Given the description of an element on the screen output the (x, y) to click on. 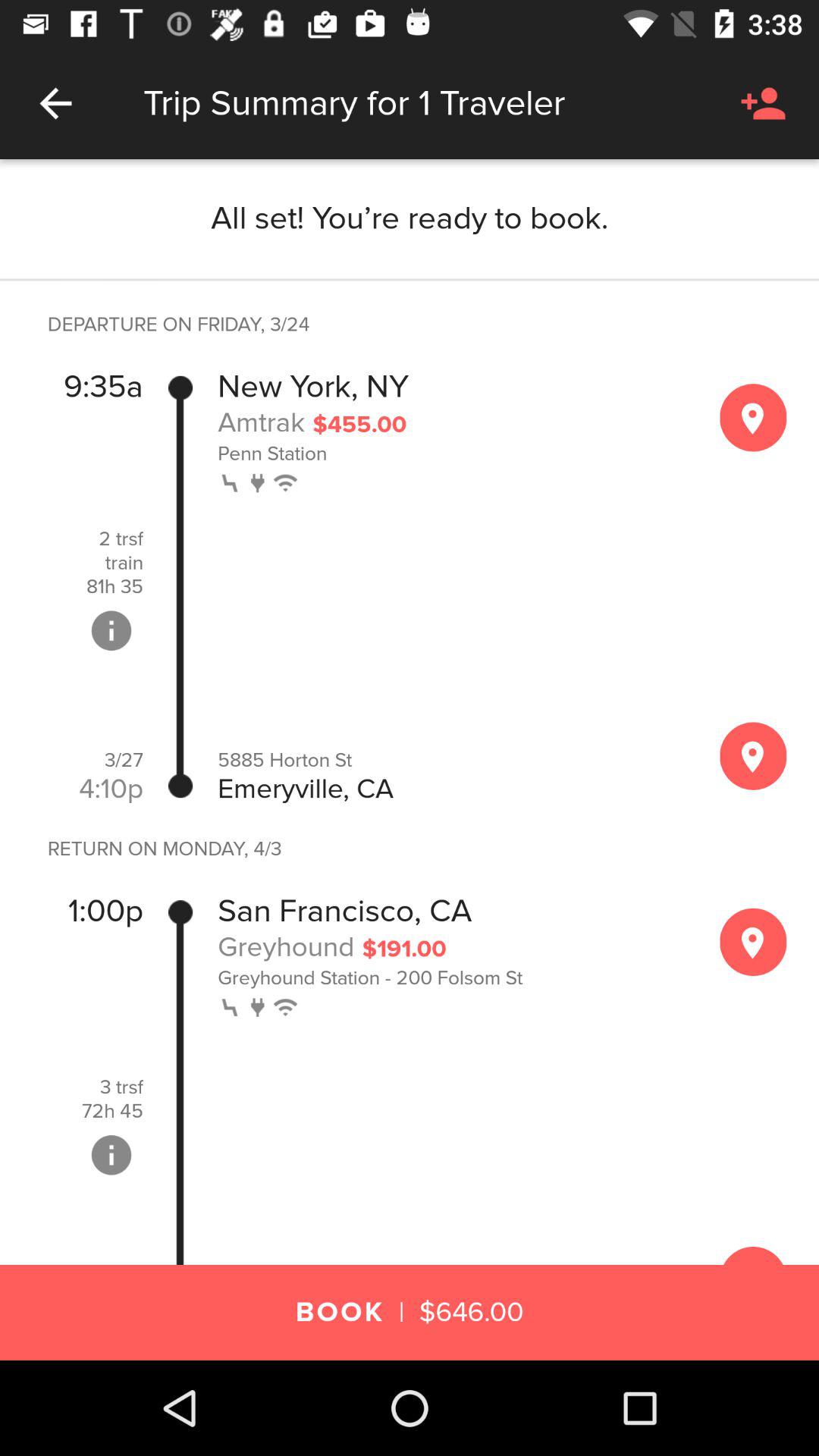
show more information (111, 630)
